Given the description of an element on the screen output the (x, y) to click on. 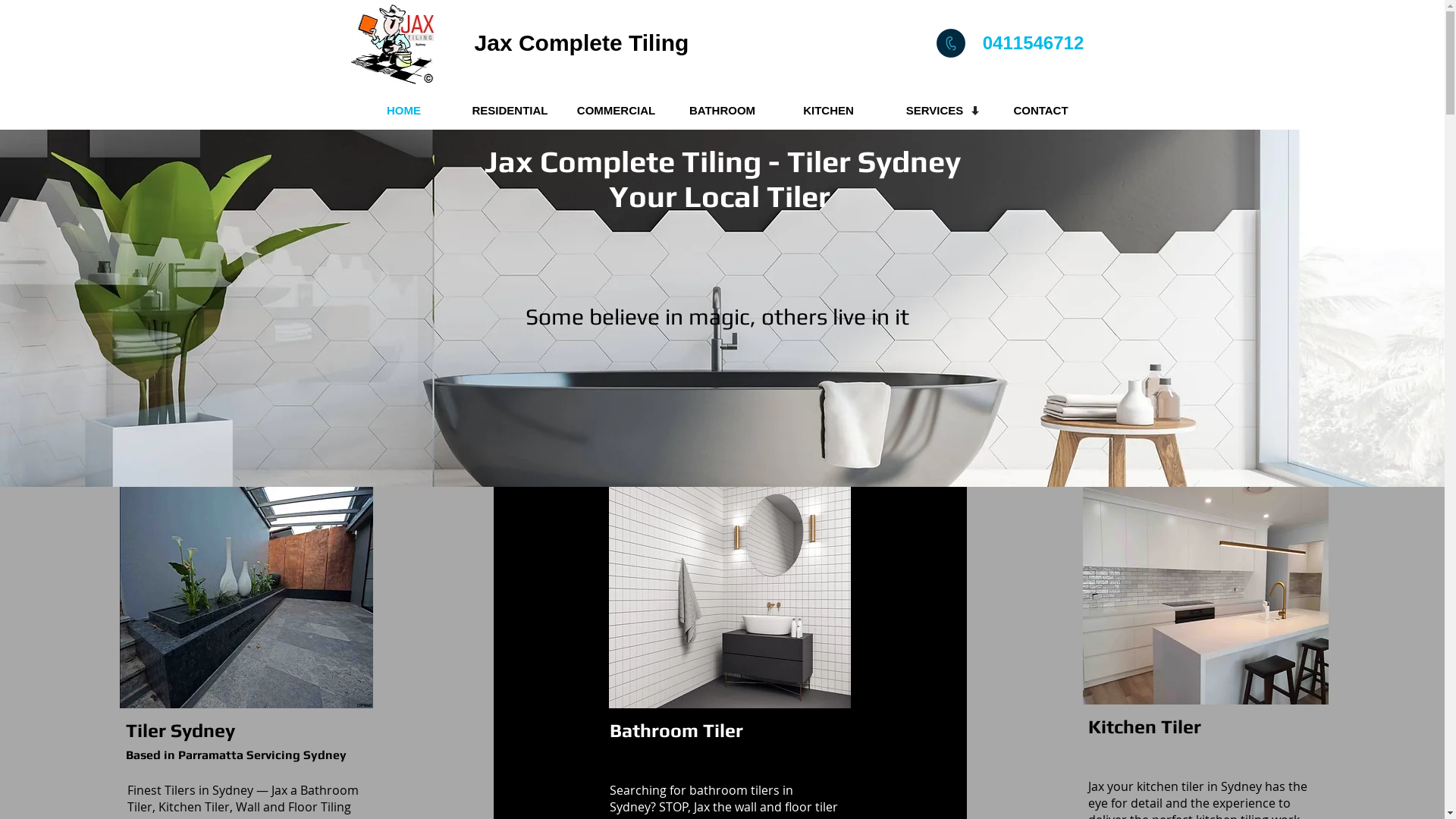
Kitchen Tiler Element type: text (1144, 726)
HOME Element type: text (403, 110)
BATHROOM Element type: text (721, 110)
Bathroom Tiler Element type: text (676, 730)
tiling services Sydney. Element type: hover (392, 43)
CONTACT Element type: text (1040, 110)
COMMERCIAL Element type: text (615, 110)
KITCHEN Element type: text (828, 110)
RESIDENTIAL Element type: text (509, 110)
0411546712 Element type: text (1032, 42)
